Given the description of an element on the screen output the (x, y) to click on. 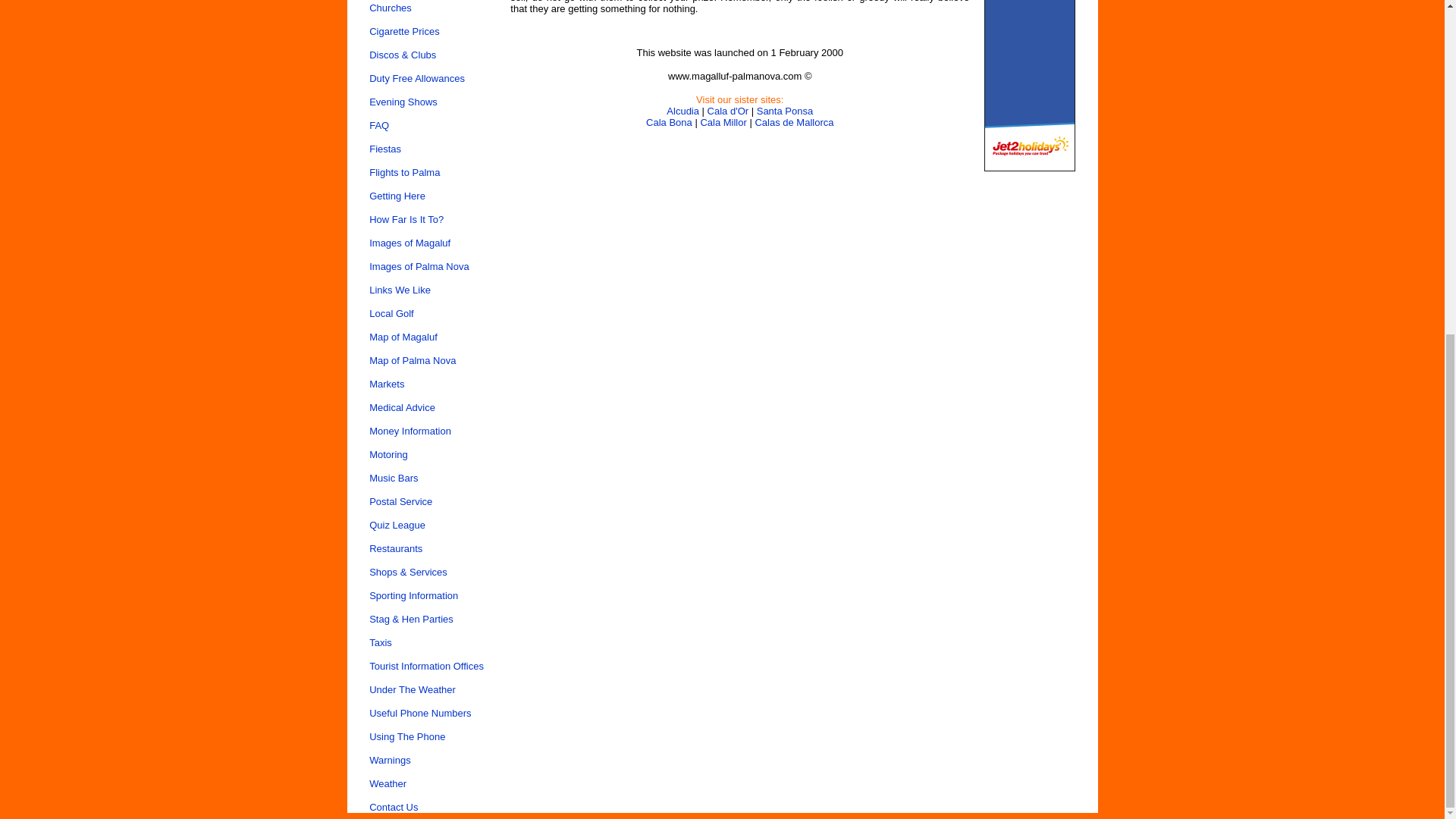
Magaluf Churches (390, 7)
Flights To Palma (404, 172)
Links We Like (399, 289)
Medical Advice (402, 407)
Images of Magaluf (409, 242)
Quiz League (397, 524)
Cigarette Prices (404, 30)
Map of Magaluf (403, 337)
Motoring (388, 454)
Getting Here (397, 195)
